Given the description of an element on the screen output the (x, y) to click on. 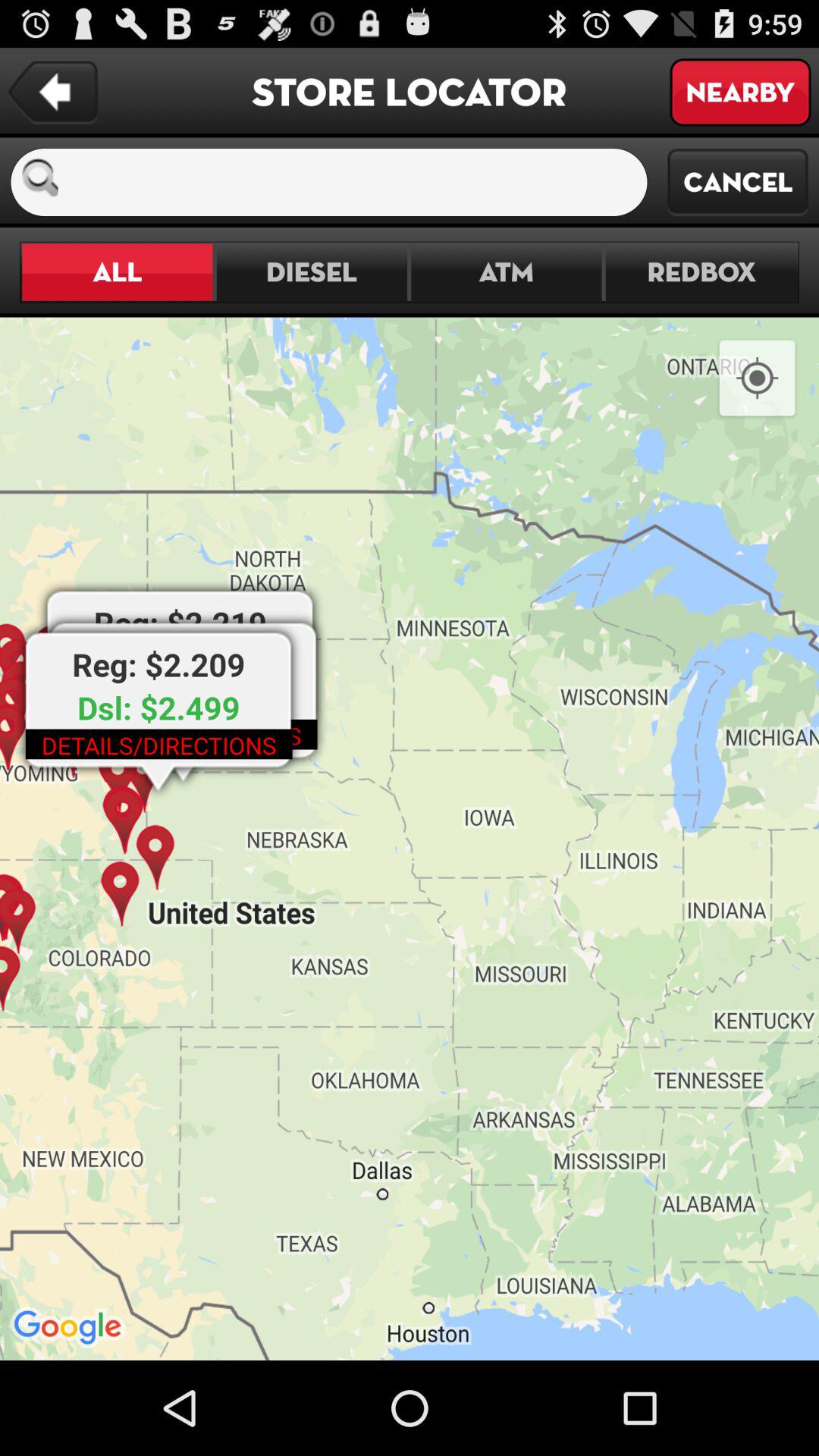
click diesel (311, 271)
